Given the description of an element on the screen output the (x, y) to click on. 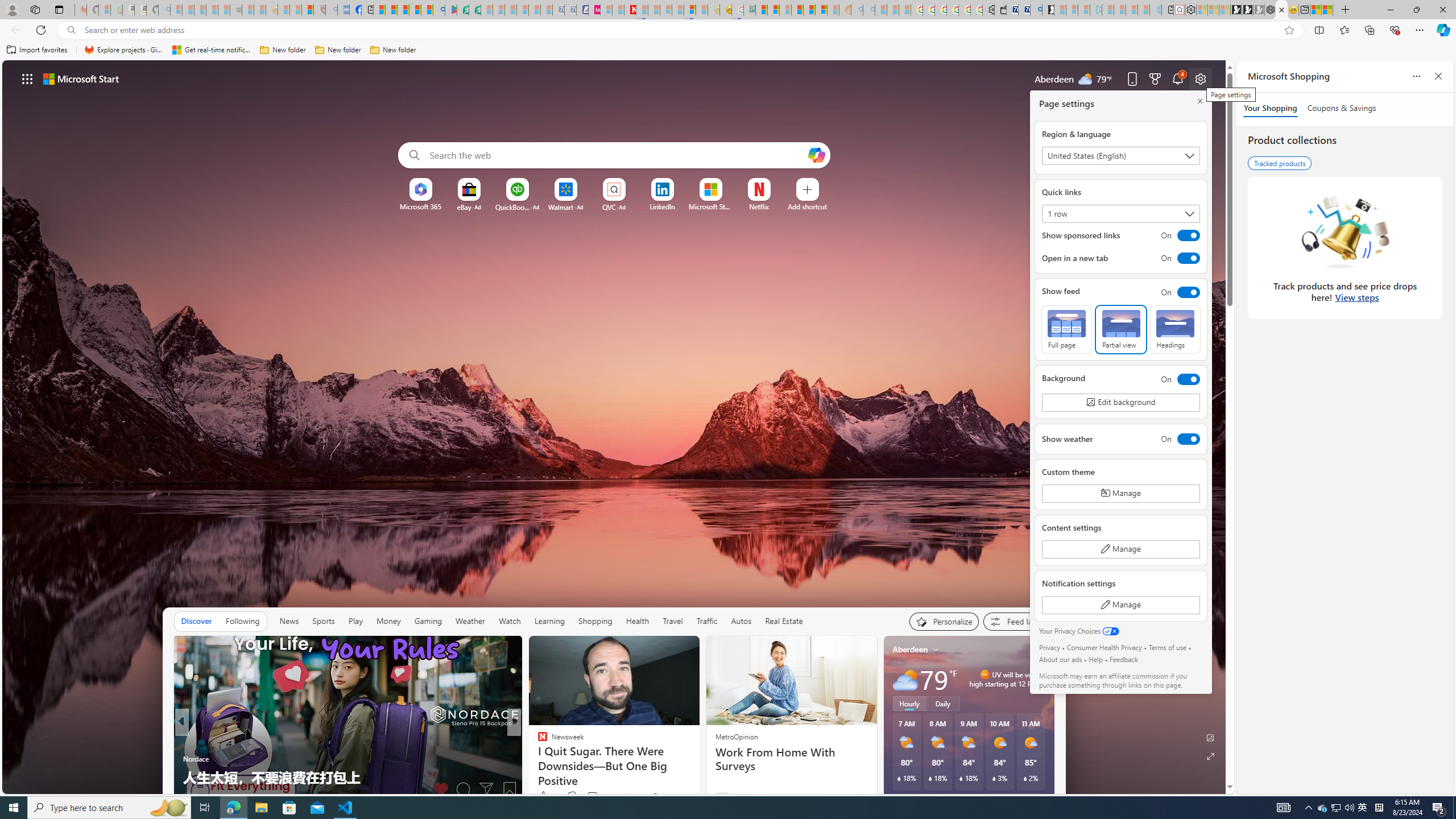
Kinda Frugal - MSN (808, 9)
Region & language (1120, 155)
View comments 18 Comment (592, 797)
Expert Portfolios (797, 9)
Microsoft Word - consumer-privacy address update 2.2021 (475, 9)
Autos (740, 621)
